Given the description of an element on the screen output the (x, y) to click on. 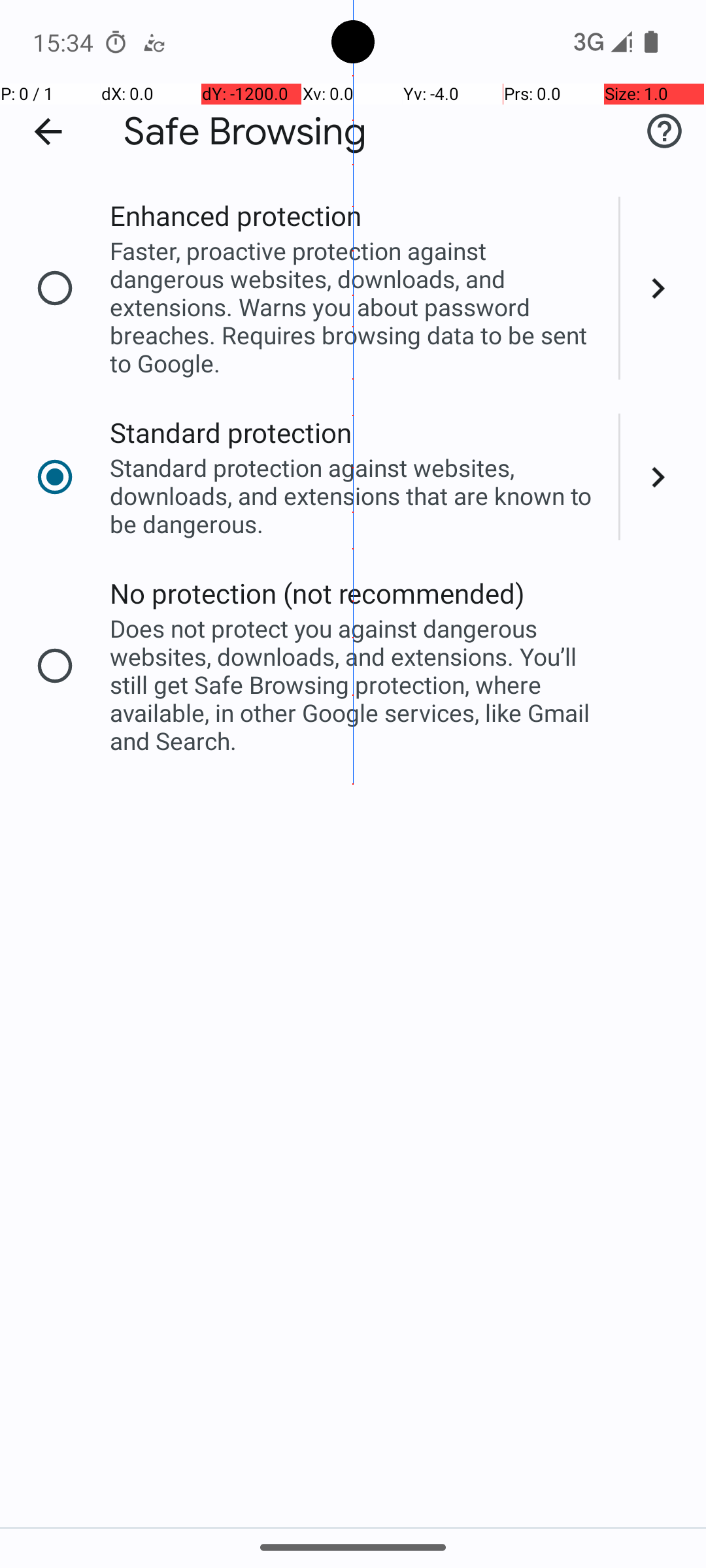
Enhanced protection Element type: android.widget.TextView (235, 214)
Faster, proactive protection against dangerous websites, downloads, and extensions. Warns you about password breaches. Requires browsing data to be sent to Google. Element type: android.widget.TextView (355, 306)
Standard protection Element type: android.widget.TextView (230, 431)
Standard protection against websites, downloads, and extensions that are known to be dangerous. Element type: android.widget.TextView (355, 495)
No protection (not recommended) Element type: android.widget.TextView (317, 592)
Does not protect you against dangerous websites, downloads, and extensions. You’ll still get Safe Browsing protection, where available, in other Google services, like Gmail and Search. Element type: android.widget.TextView (355, 684)
